Given the description of an element on the screen output the (x, y) to click on. 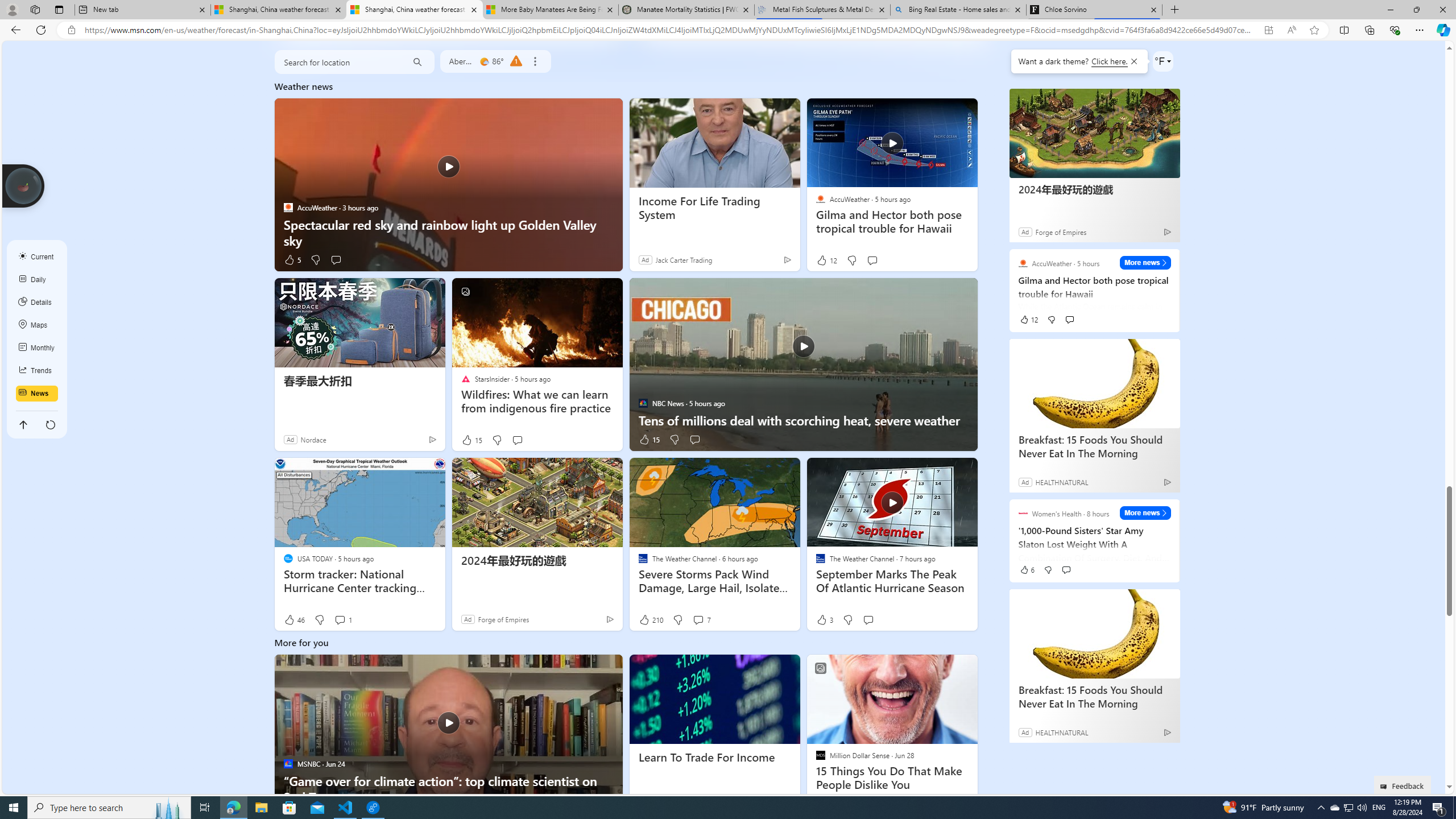
USA TODAY (287, 558)
Breakfast: 15 Foods You Should Never Eat In The Morning (1093, 696)
Monthly (37, 347)
September Marks The Peak Of Atlantic Hurricane Season (891, 580)
Spectacular red sky and rainbow light up Golden Valley sky (448, 184)
Search for location (337, 61)
NBC News (642, 402)
More news (1144, 513)
Wildfires: What we can learn from indigenous fire practice (536, 401)
210 Like (650, 619)
